Given the description of an element on the screen output the (x, y) to click on. 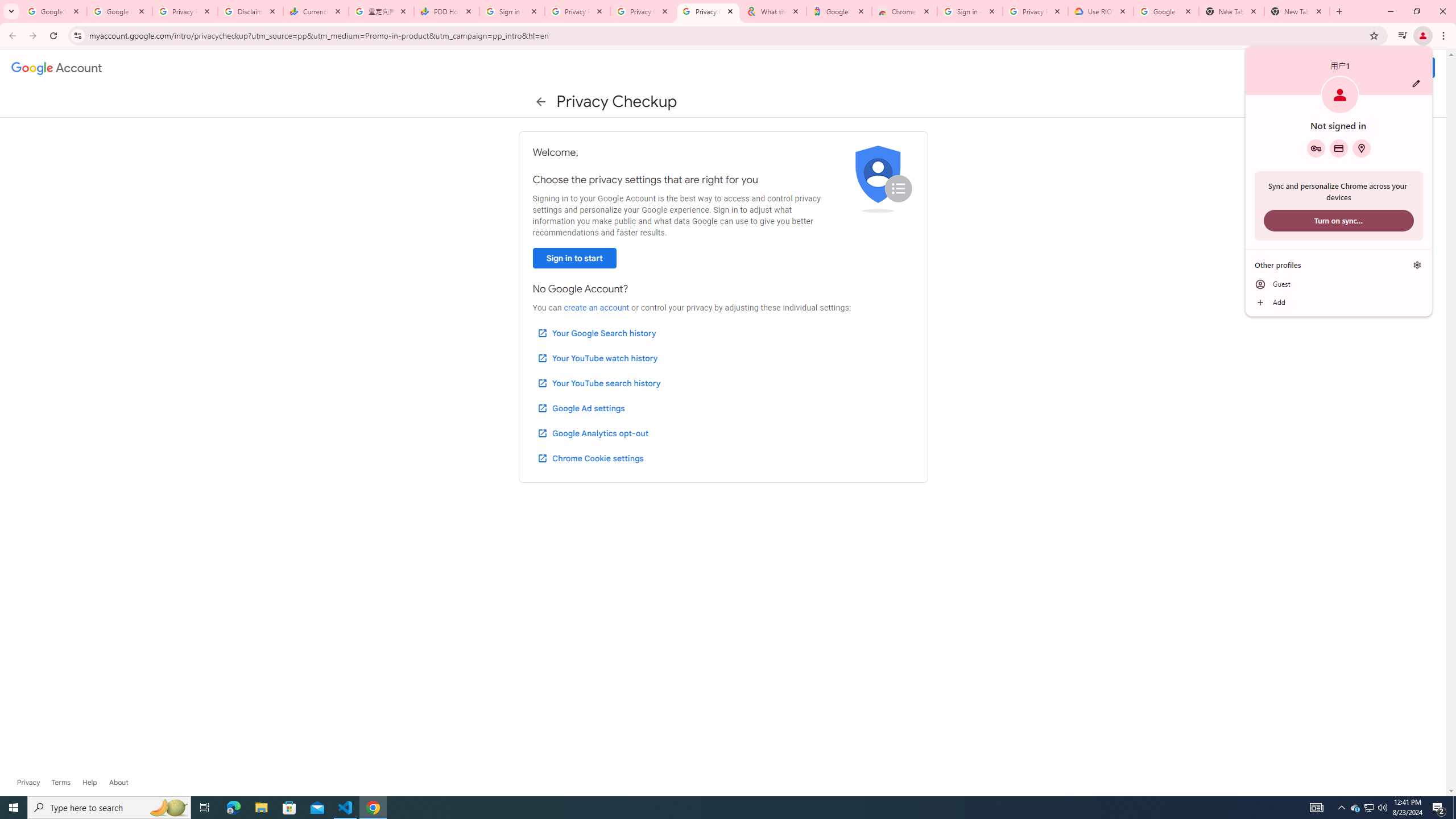
Chrome Web Store - Color themes by Chrome (904, 11)
Task View (204, 807)
Google Ad settings (580, 408)
Type here to search (108, 807)
Q2790: 100% (1382, 807)
AutomationID: 4105 (1316, 807)
Running applications (717, 807)
Learn more about Google Account (118, 782)
Sign in - Google Accounts (969, 11)
